Given the description of an element on the screen output the (x, y) to click on. 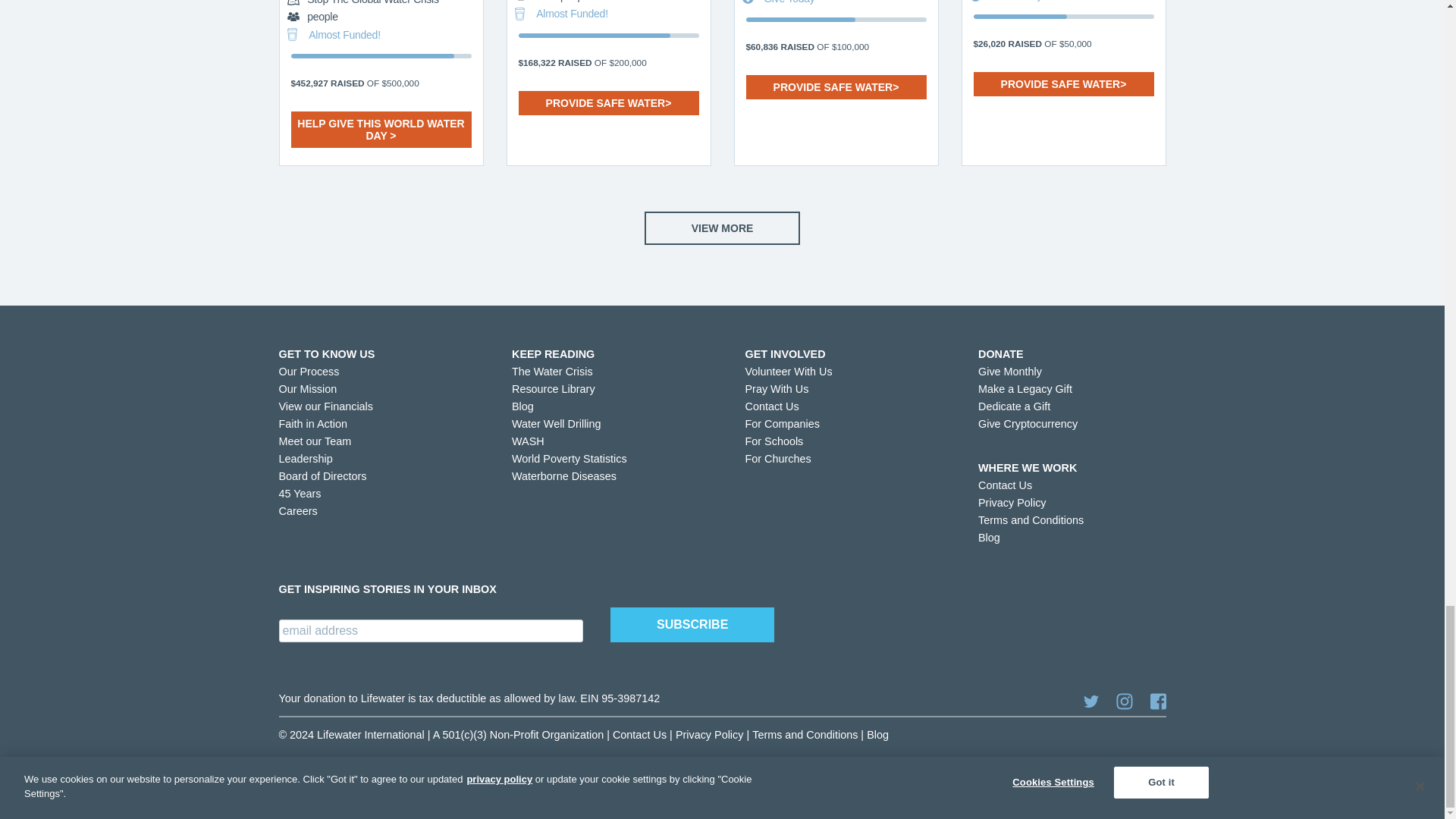
Subscribe (692, 624)
